Given the description of an element on the screen output the (x, y) to click on. 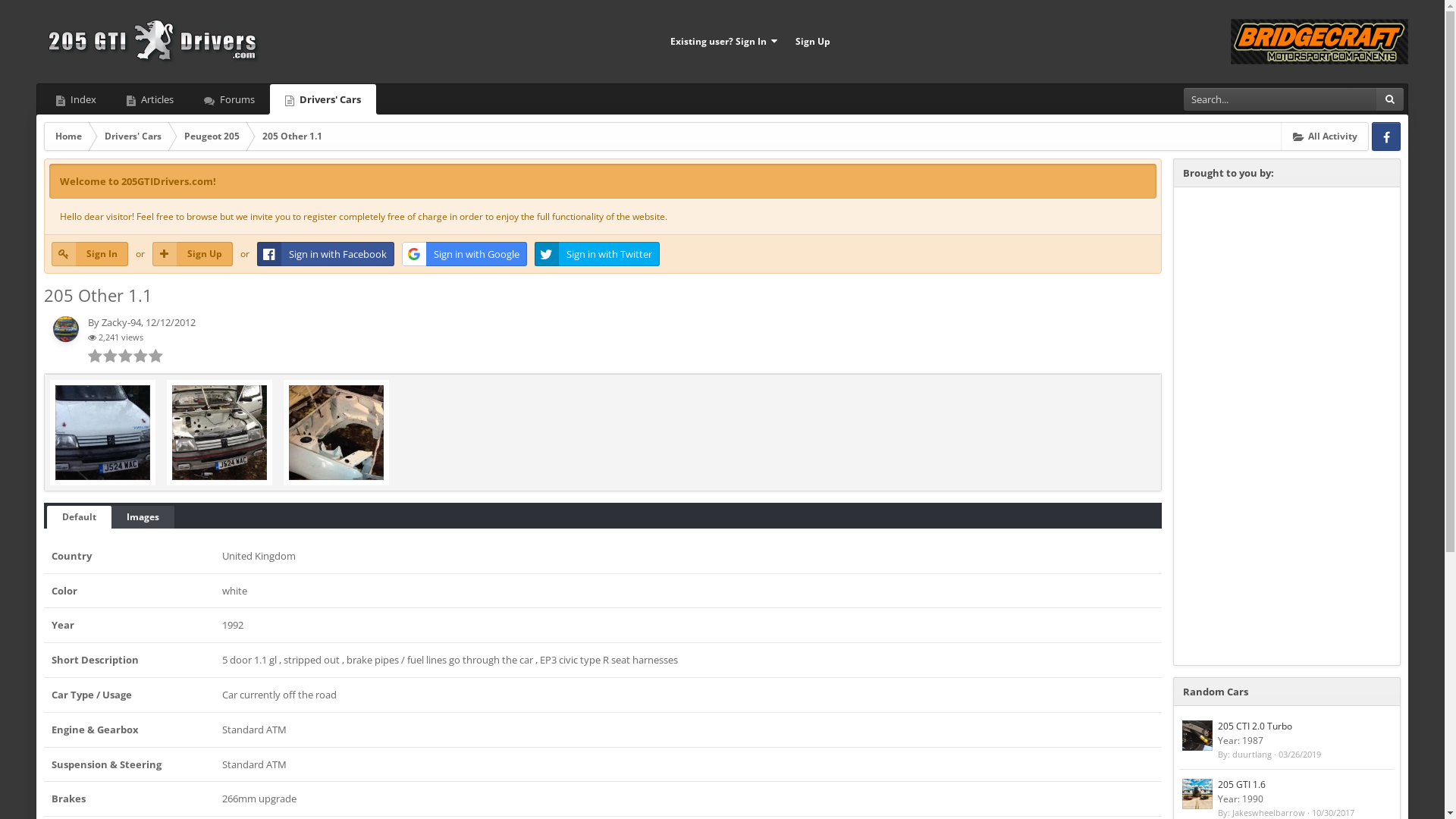
Sign in with Google Element type: text (464, 253)
Advertisement Element type: hover (1286, 425)
Sign In Element type: text (89, 253)
Forums Element type: text (228, 99)
Facebook Element type: text (1385, 136)
205 GTI 1.6 Element type: text (1241, 784)
Sign Up Element type: text (812, 41)
205 GTI 1.6 Element type: hover (1197, 793)
Home Element type: text (68, 136)
Articles Element type: text (149, 99)
Existing user? Sign In   Element type: text (723, 41)
Drivers' Cars Element type: text (322, 99)
Drivers' Cars Element type: text (132, 136)
205 CTI 2.0 Turbo Element type: text (1254, 725)
205 CTI 2.0 Turbo Element type: hover (1197, 735)
Sign Up Element type: text (192, 253)
Sign in with Facebook Element type: text (325, 253)
Images Element type: text (142, 516)
All Activity Element type: text (1324, 136)
Default Element type: text (79, 516)
Peugeot 205 Element type: text (211, 136)
Index Element type: text (75, 99)
Sign in with Twitter Element type: text (596, 253)
